Given the description of an element on the screen output the (x, y) to click on. 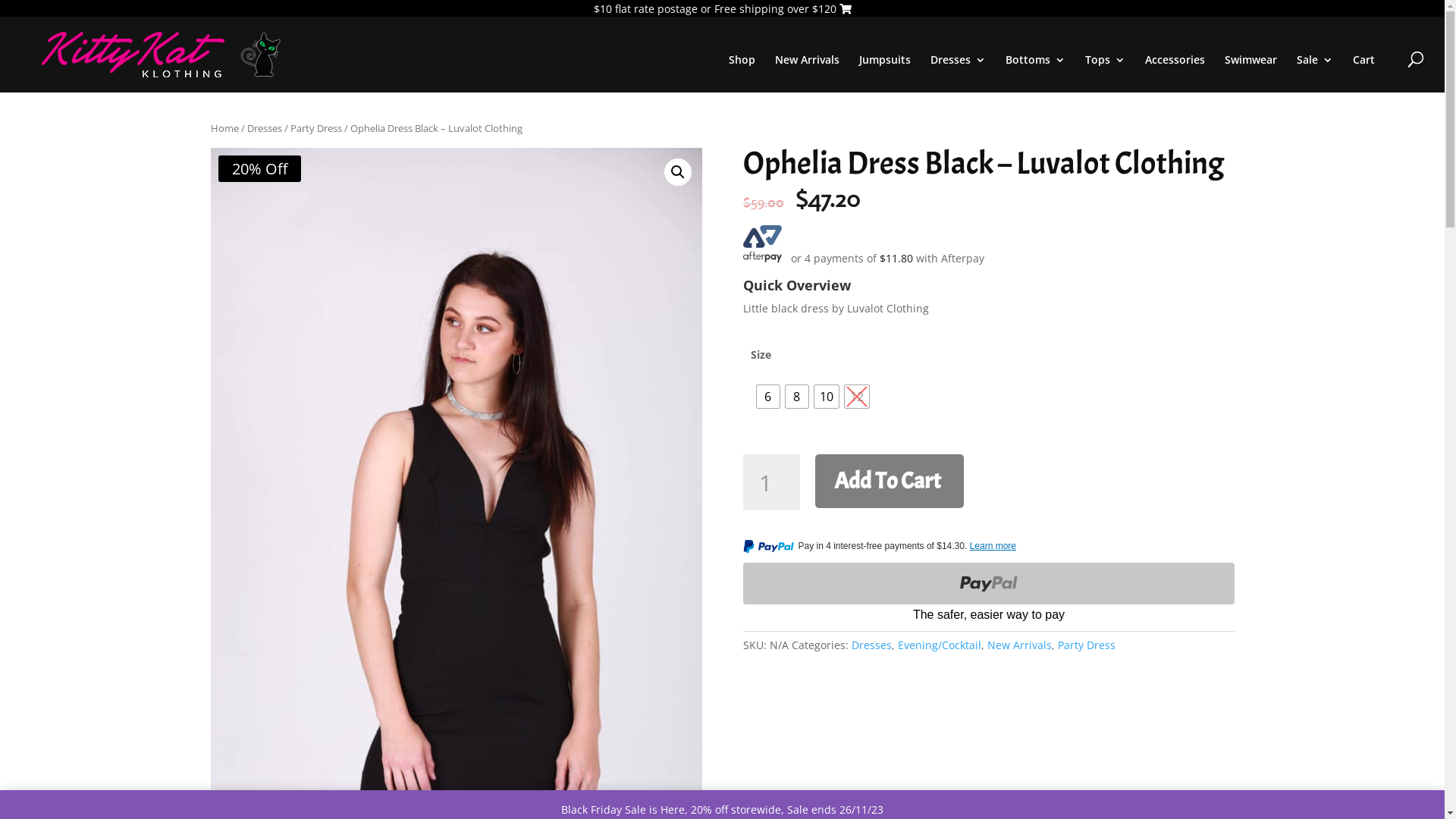
Party Dress Element type: text (315, 127)
New Arrivals Element type: text (1019, 644)
New Arrivals Element type: text (807, 72)
Home Element type: text (224, 127)
Accessories Element type: text (1174, 72)
Add To Cart Element type: text (888, 481)
Evening/Cocktail Element type: text (939, 644)
Sale Element type: text (1314, 72)
Dresses Element type: text (870, 644)
Swimwear Element type: text (1250, 72)
Tops Element type: text (1105, 72)
Cart Element type: text (1363, 72)
PayPal Message 1 Element type: hover (988, 548)
PayPal Element type: hover (988, 593)
Dresses Element type: text (264, 127)
Shop Element type: text (741, 72)
Dresses Element type: text (957, 72)
Party Dress Element type: text (1085, 644)
Bottoms Element type: text (1035, 72)
Jumpsuits Element type: text (884, 72)
